Given the description of an element on the screen output the (x, y) to click on. 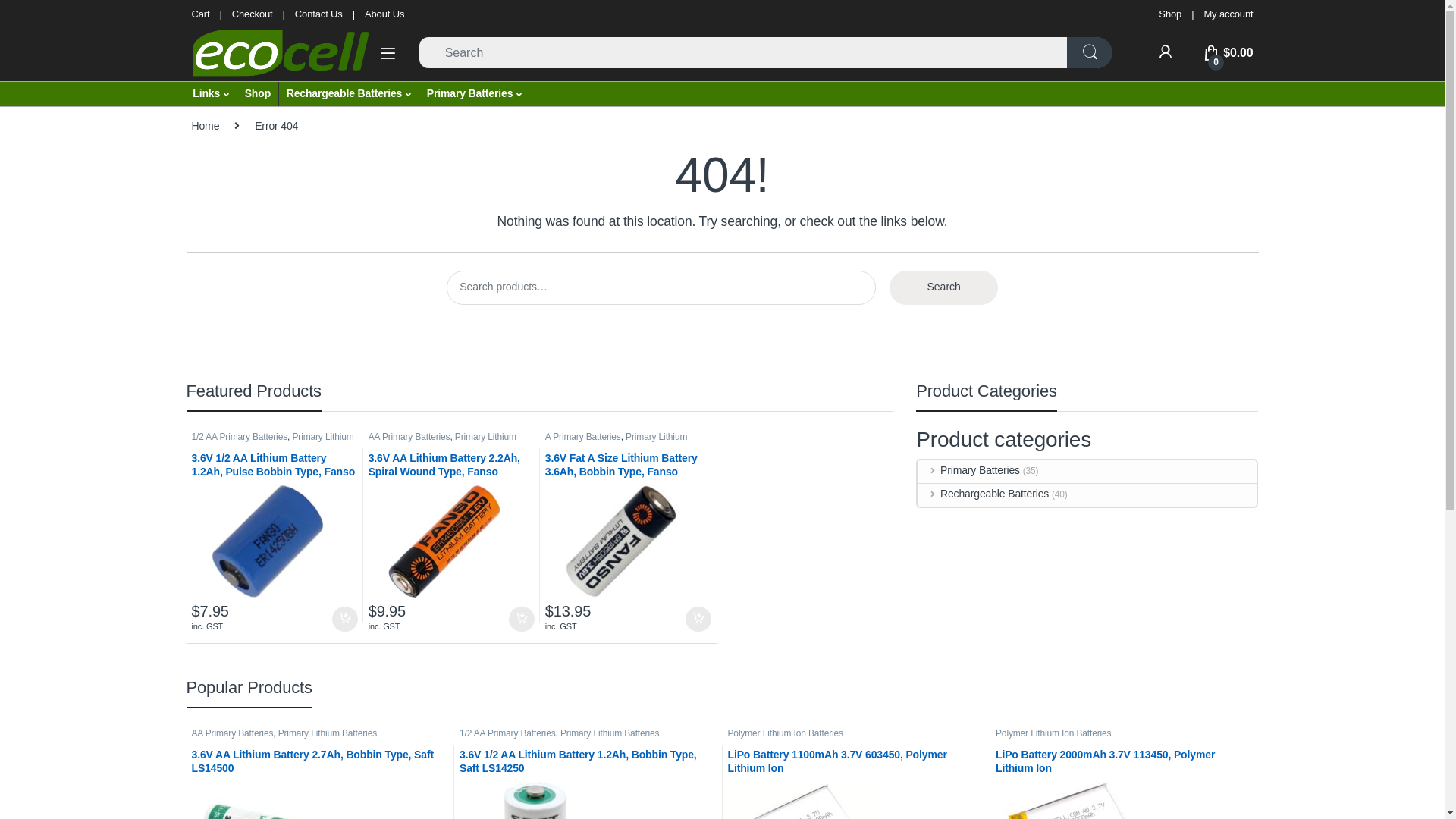
Primary Batteries Element type: text (474, 93)
Primary Lithium Batteries Element type: text (616, 441)
1/2 AA Primary Batteries Element type: text (507, 733)
Rechargeable Batteries Element type: text (348, 93)
Add to cart Element type: text (698, 619)
Search Element type: text (943, 287)
Shop Element type: text (1169, 14)
Shop Element type: text (257, 93)
Primary Lithium Batteries Element type: text (609, 733)
Add to cart Element type: text (521, 619)
Polymer Lithium Ion Batteries Element type: text (1052, 733)
Primary Lithium Batteries Element type: text (442, 441)
Rechargeable Batteries Element type: text (982, 494)
Links Element type: text (210, 93)
Home Element type: text (205, 125)
Primary Lithium Batteries Element type: text (327, 733)
AA Primary Batteries Element type: text (232, 733)
Polymer Lithium Ion Batteries Element type: text (785, 733)
Contact Us Element type: text (318, 14)
1/2 AA Primary Batteries Element type: text (239, 436)
0
$0.00 Element type: text (1227, 52)
Checkout Element type: text (252, 14)
Add to cart Element type: text (344, 619)
AA Primary Batteries Element type: text (409, 436)
Primary Lithium Batteries Element type: text (272, 441)
A Primary Batteries Element type: text (583, 436)
Cart Element type: text (200, 14)
My account Element type: text (1227, 14)
About Us Element type: text (384, 14)
Primary Batteries Element type: text (968, 471)
